Given the description of an element on the screen output the (x, y) to click on. 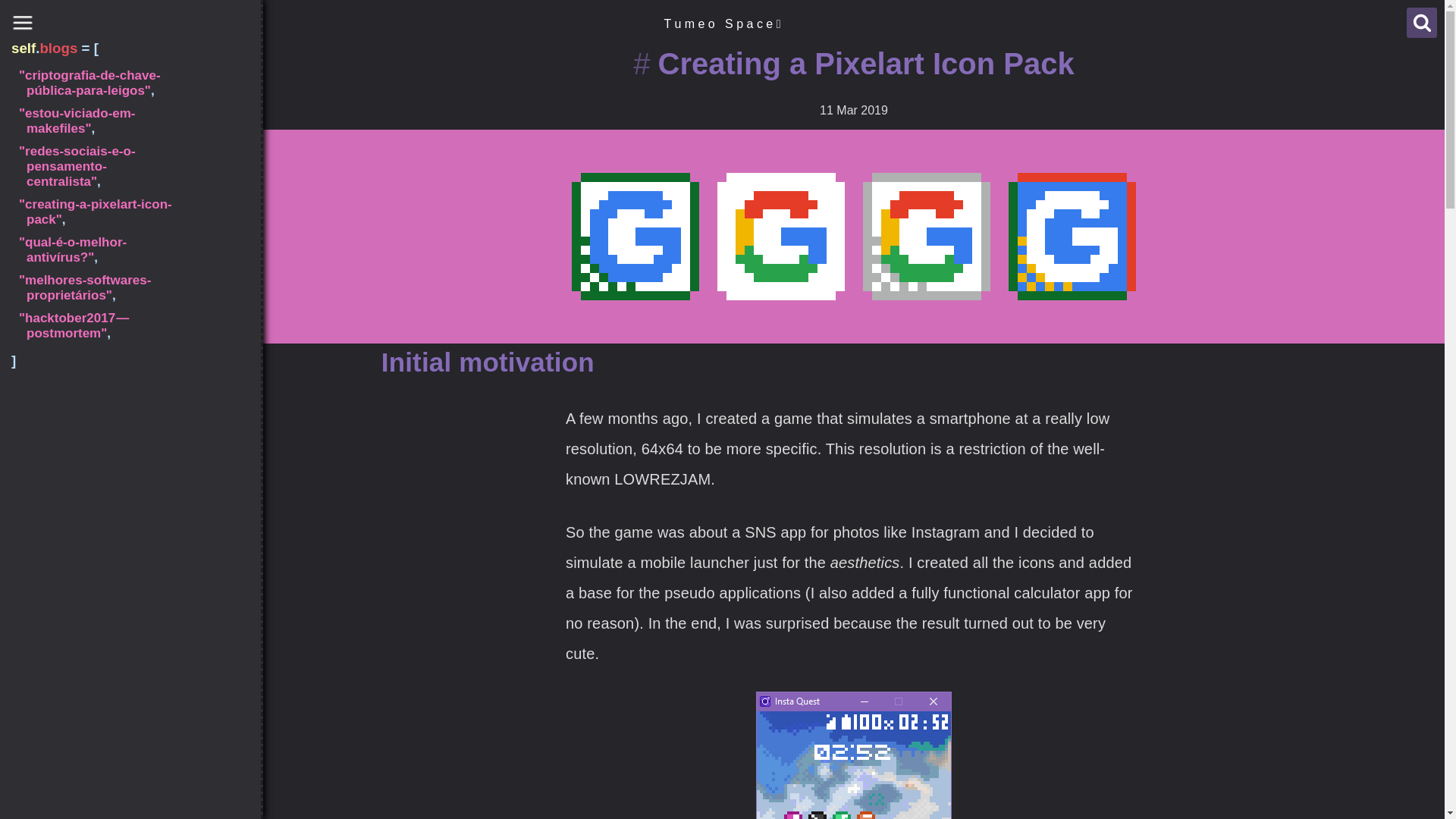
"redes-sociais-e-o-pensamento-centralista", (101, 166)
"state-management-in-godot-with-a-vue.js-twist", (101, 90)
"estou-viciado-em-makefiles", (101, 121)
"redes-sociais-e-o-pensamento-centralista", (101, 219)
"creating-a-pixelart-icon-pack", (101, 212)
"estou-viciado-em-makefiles", (101, 173)
"creating-a-pixelart-icon-pack", (101, 265)
